Given the description of an element on the screen output the (x, y) to click on. 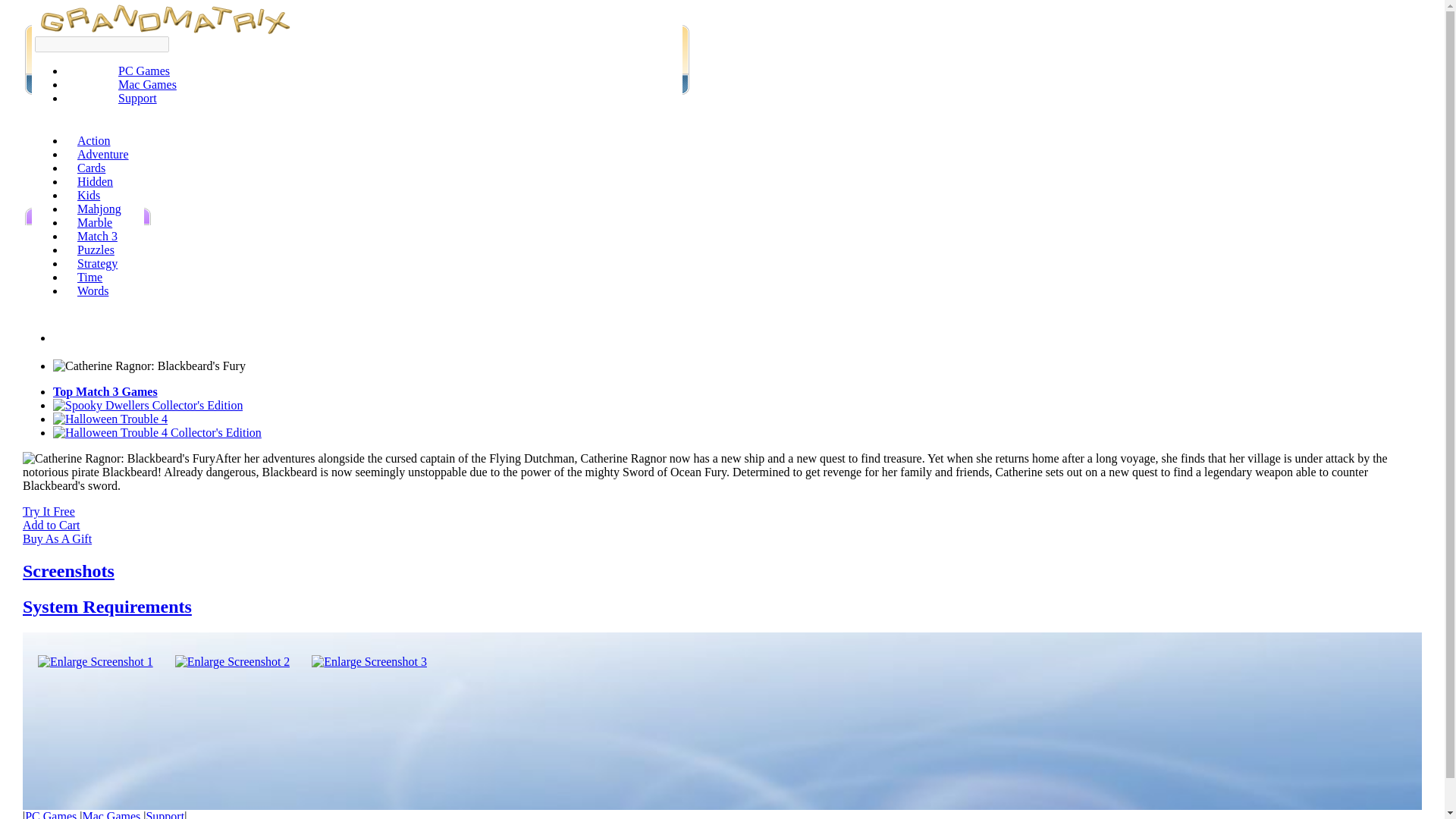
Mahjong (99, 208)
Action (93, 140)
Halloween Trouble 4 Collector's Edition (157, 432)
Spooky Dwellers Collector's Edition (147, 405)
Mac Games (110, 814)
Strategy (97, 263)
Marble (94, 222)
Support (137, 97)
Top Match 3 Games (104, 391)
Time (90, 277)
Screenshots (69, 570)
Mac Games (146, 83)
Try It Free (49, 511)
PC Games (143, 70)
PC Games (50, 814)
